Given the description of an element on the screen output the (x, y) to click on. 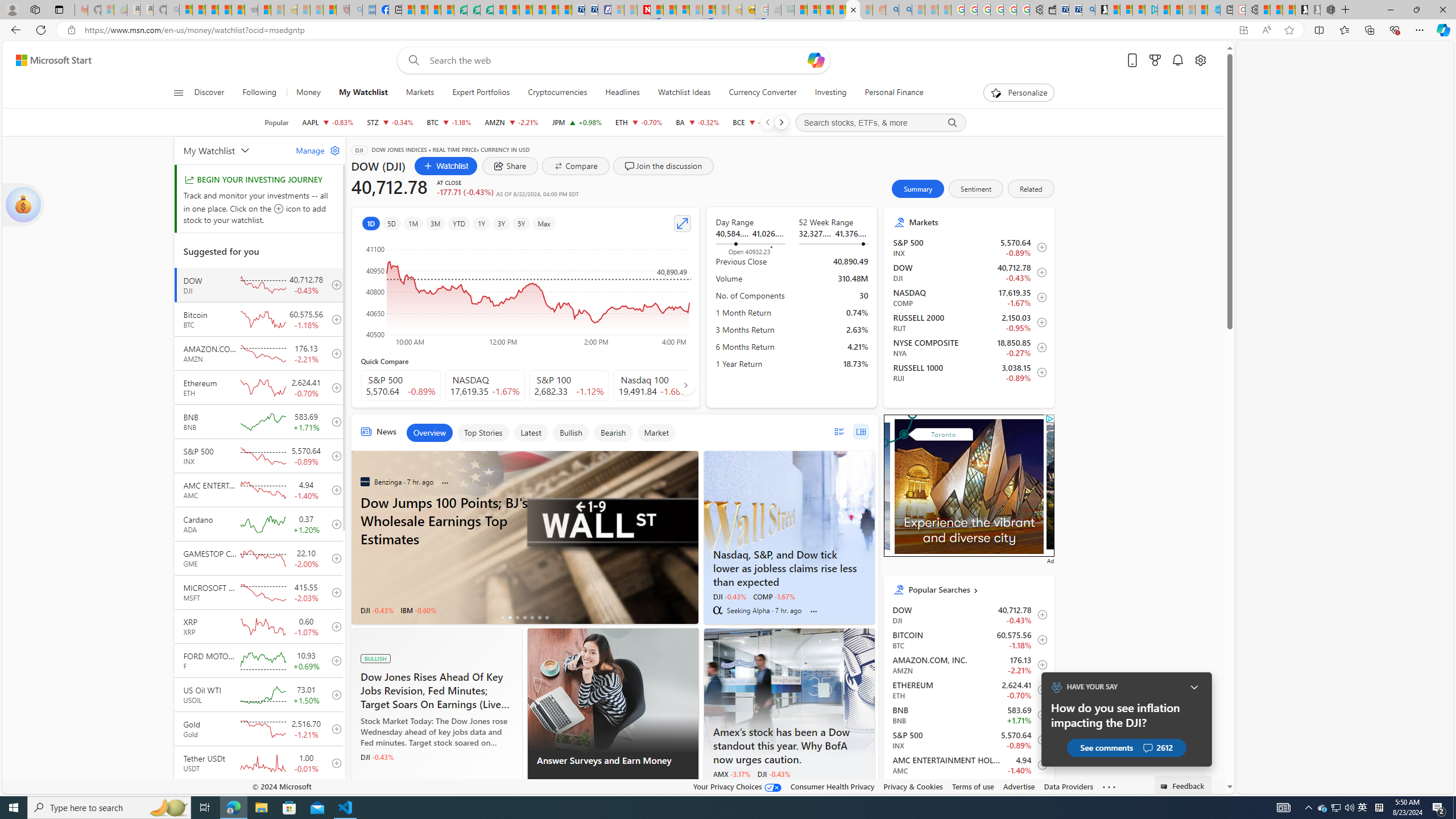
COMP -1.67% (773, 596)
AutomationID: tag (968, 485)
Search stocks, ETFs, & more (880, 122)
5Y (520, 223)
My Watchlist (363, 92)
